Given the description of an element on the screen output the (x, y) to click on. 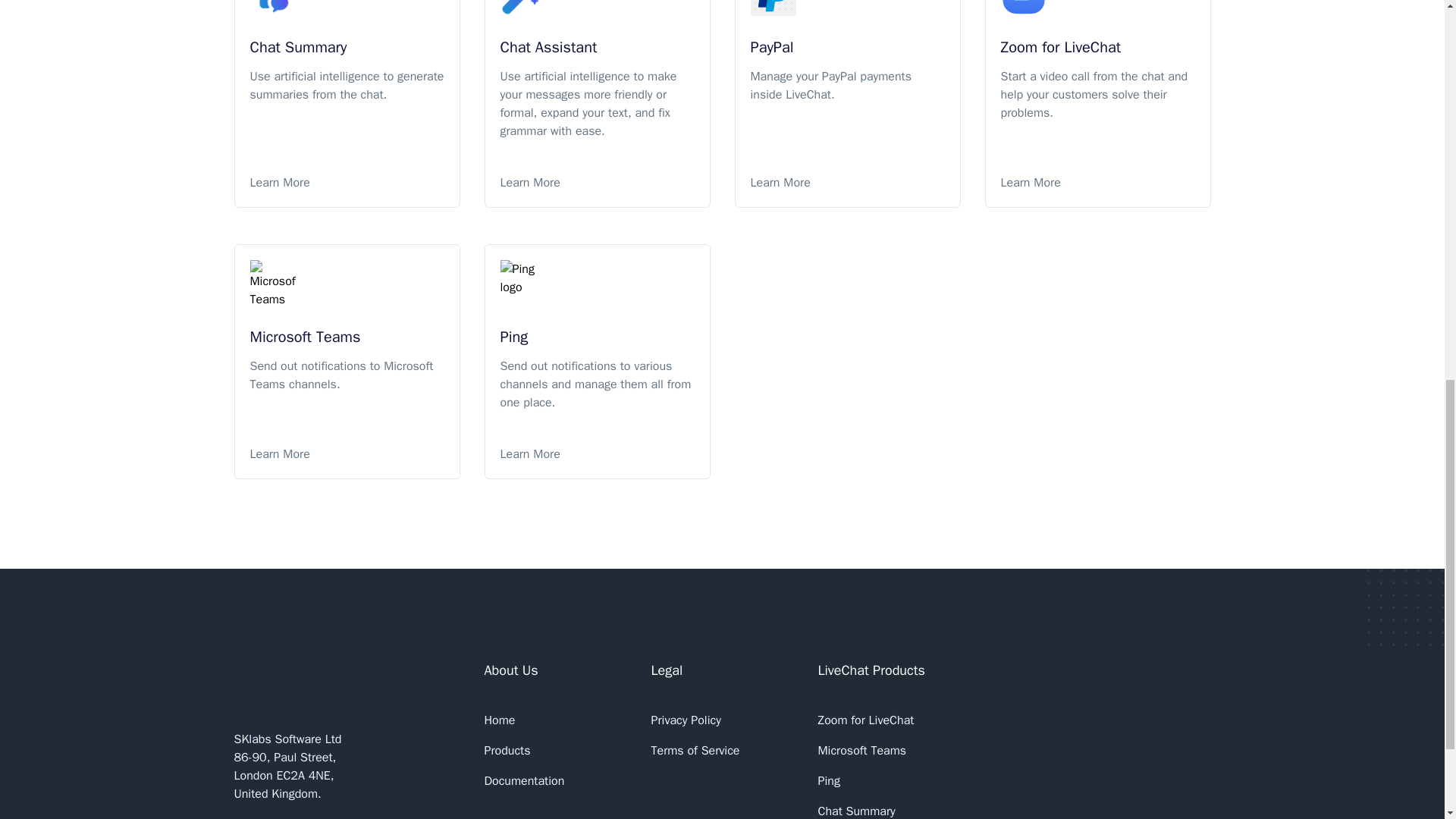
Learn More (347, 182)
Learn More (1098, 182)
Chat Summary (855, 809)
Microsoft Teams (860, 750)
Zoom for LiveChat (865, 720)
Documentation (523, 781)
Learn More (597, 454)
Privacy Policy (685, 720)
Home (499, 720)
Learn More (597, 182)
Learn More (847, 182)
Ping (828, 781)
Learn More (347, 454)
Terms of Service (694, 750)
Products (506, 750)
